Given the description of an element on the screen output the (x, y) to click on. 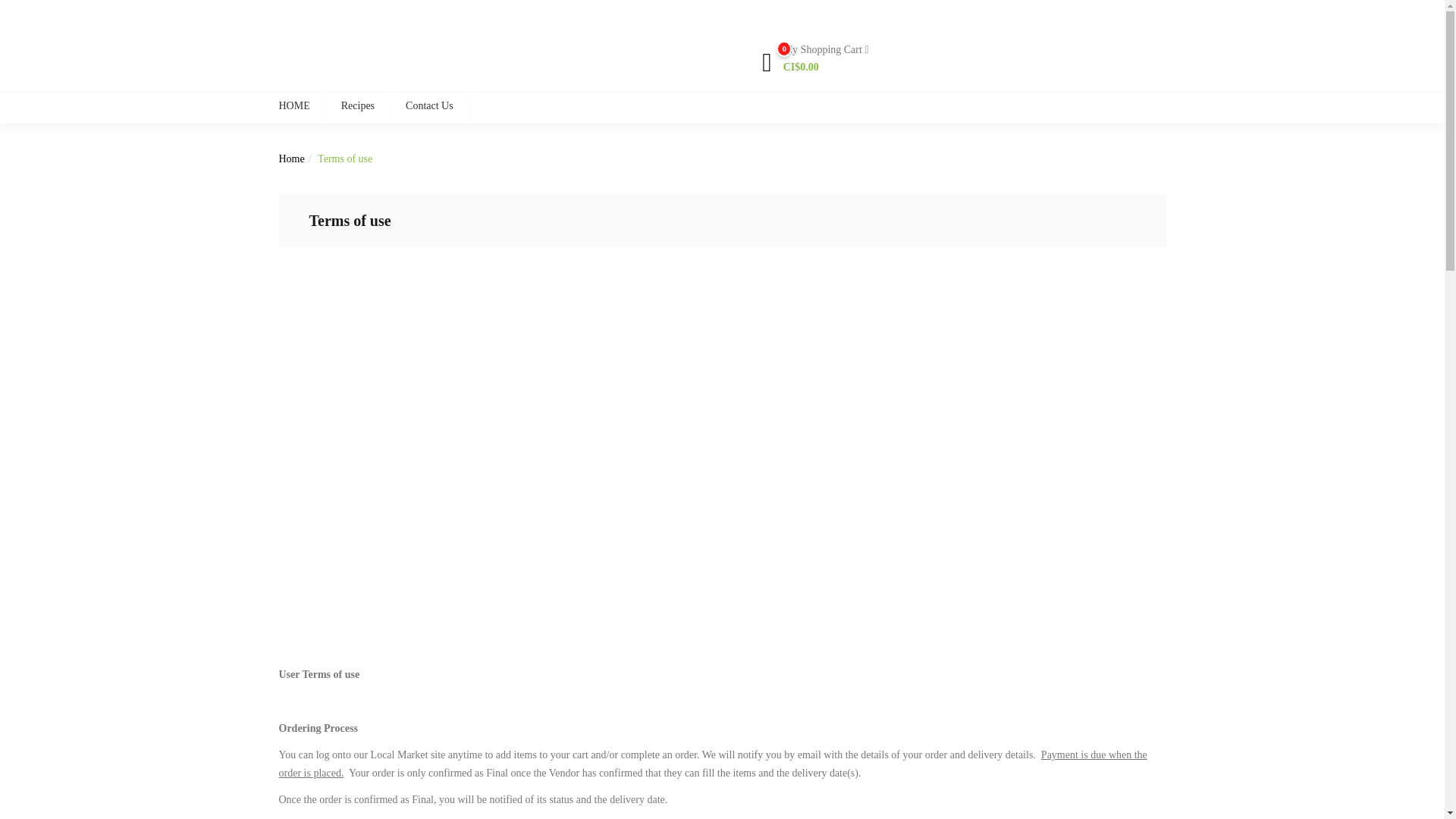
Contact Us (429, 107)
Home (291, 158)
HOME (301, 107)
View your shopping cart (814, 58)
Recipes (357, 107)
